Given the description of an element on the screen output the (x, y) to click on. 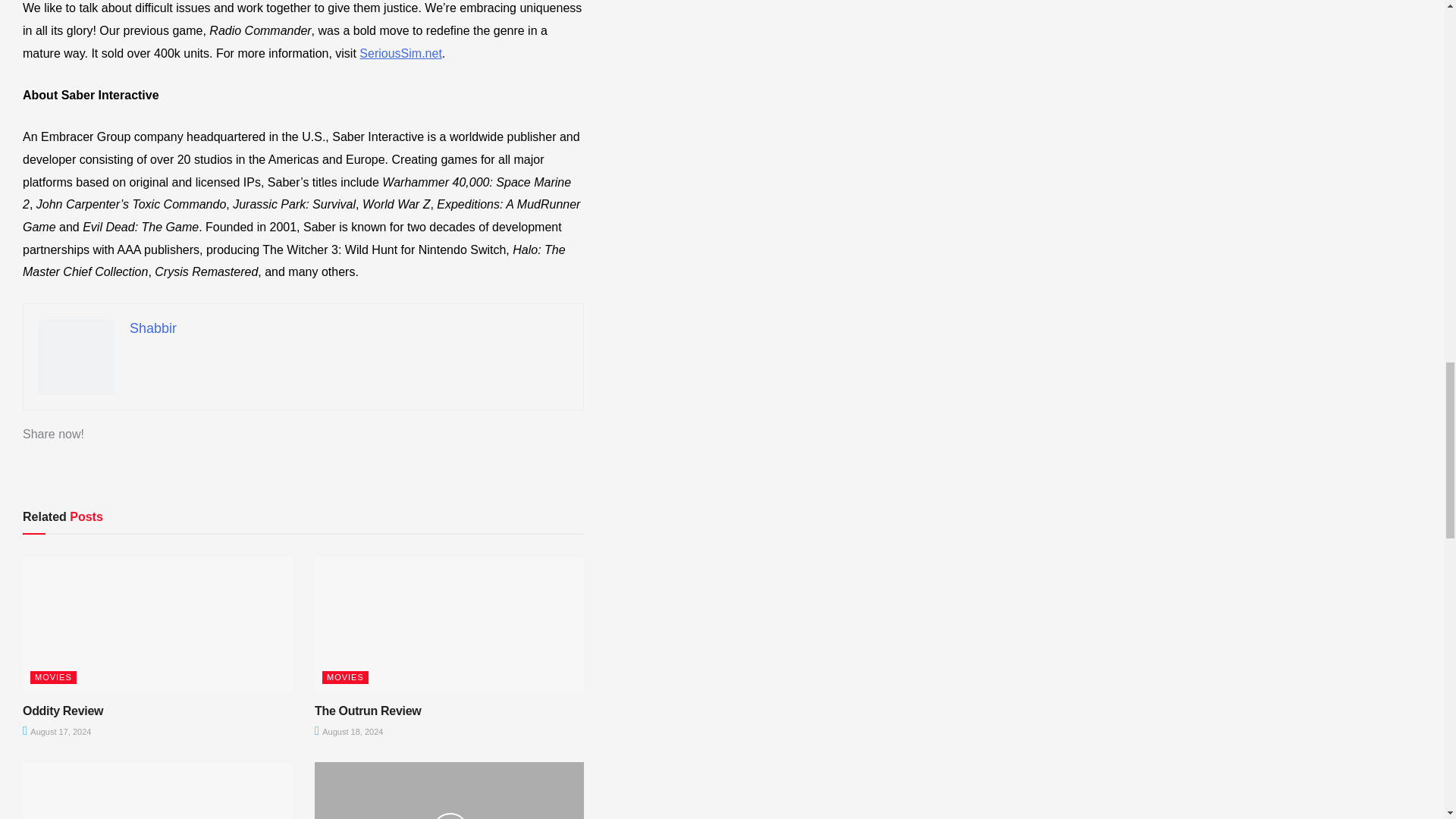
August 17, 2024 (56, 731)
Shabbir (152, 328)
SeriousSim.net (400, 52)
MOVIES (53, 676)
Oddity Review (63, 710)
